Given the description of an element on the screen output the (x, y) to click on. 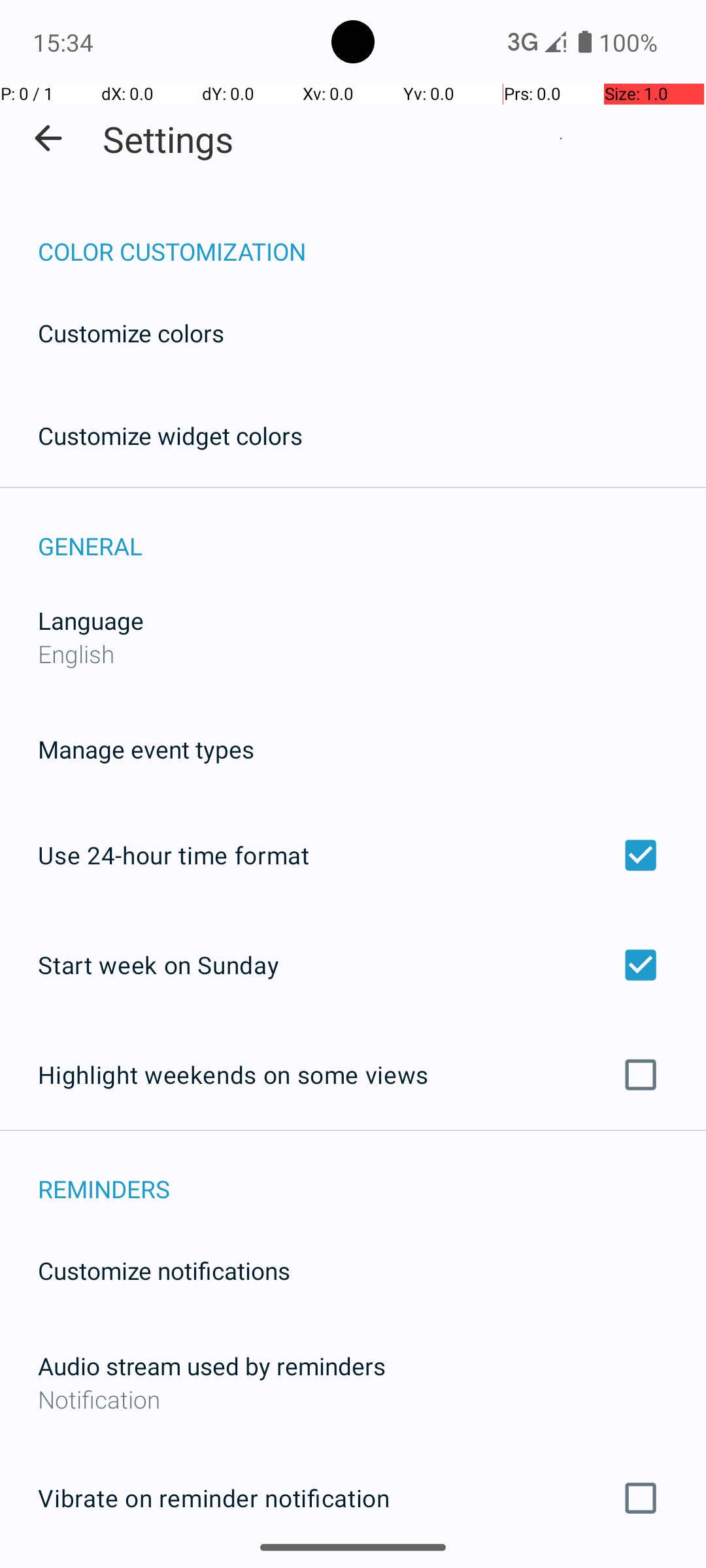
COLOR CUSTOMIZATION Element type: android.widget.TextView (371, 237)
REMINDERS Element type: android.widget.TextView (371, 1174)
Customize colors Element type: android.widget.TextView (130, 332)
Customize widget colors Element type: android.widget.TextView (170, 435)
English Element type: android.widget.TextView (75, 653)
Manage event types Element type: android.widget.TextView (145, 748)
Use 24-hour time format Element type: android.widget.CheckBox (352, 855)
Start week on Sunday Element type: android.widget.CheckBox (352, 964)
Highlight weekends on some views Element type: android.widget.CheckBox (352, 1074)
Customize notifications Element type: android.widget.TextView (163, 1270)
Audio stream used by reminders Element type: android.widget.TextView (211, 1365)
Notification Element type: android.widget.TextView (352, 1398)
Vibrate on reminder notification Element type: android.widget.CheckBox (352, 1497)
Loop reminders until dismissed Element type: android.widget.CheckBox (352, 1567)
